Given the description of an element on the screen output the (x, y) to click on. 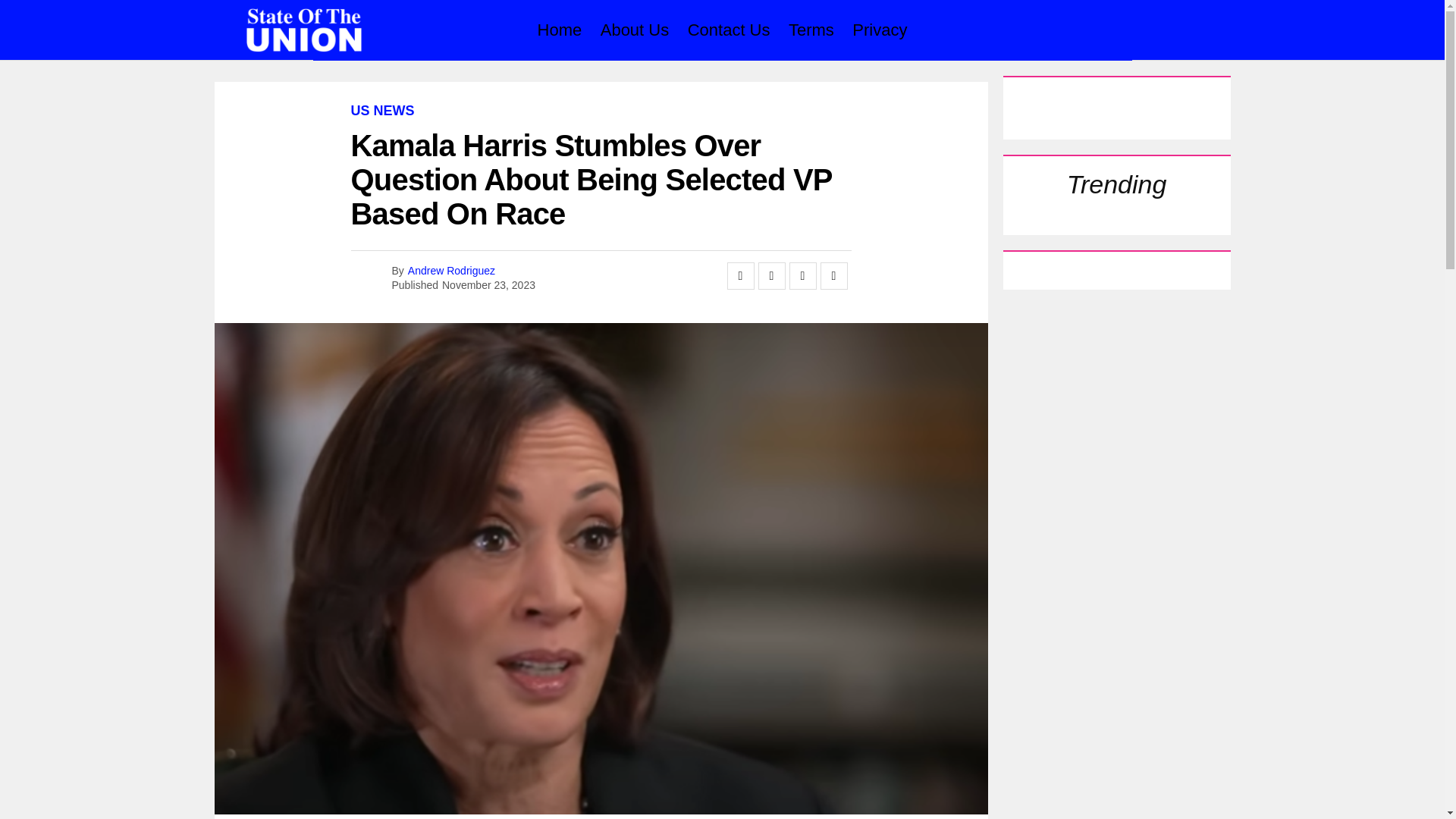
US NEWS (381, 110)
Terms (810, 30)
Tweet This Post (772, 275)
Home (559, 30)
Andrew Rodriguez (451, 269)
Share on Facebook (740, 275)
About Us (634, 30)
Contact Us (728, 30)
Posts by Andrew Rodriguez (451, 269)
Privacy (879, 30)
